Given the description of an element on the screen output the (x, y) to click on. 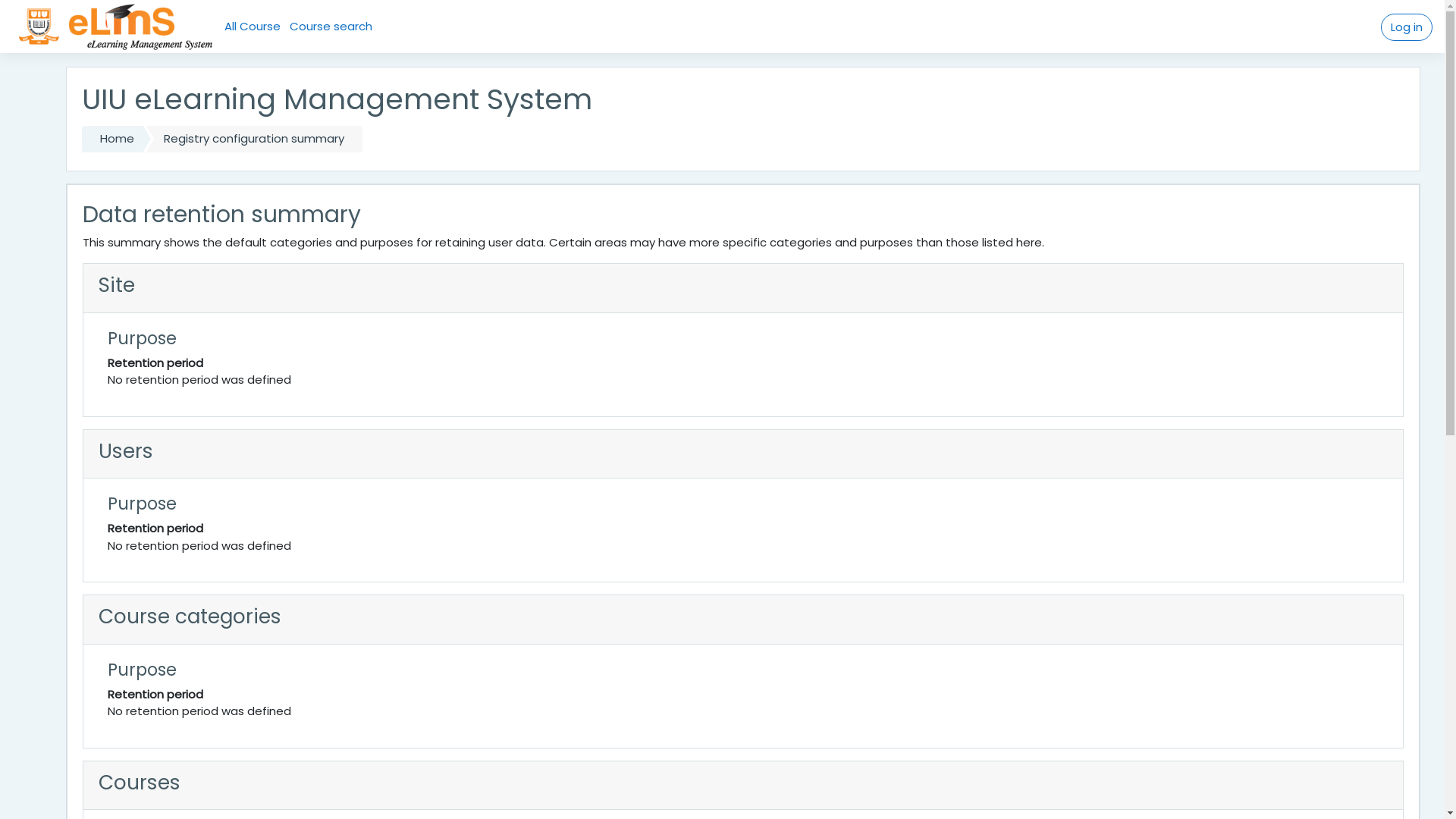
Course search Element type: text (330, 26)
Log in Element type: text (1406, 27)
All Course Element type: text (252, 26)
Home Element type: text (112, 138)
